Given the description of an element on the screen output the (x, y) to click on. 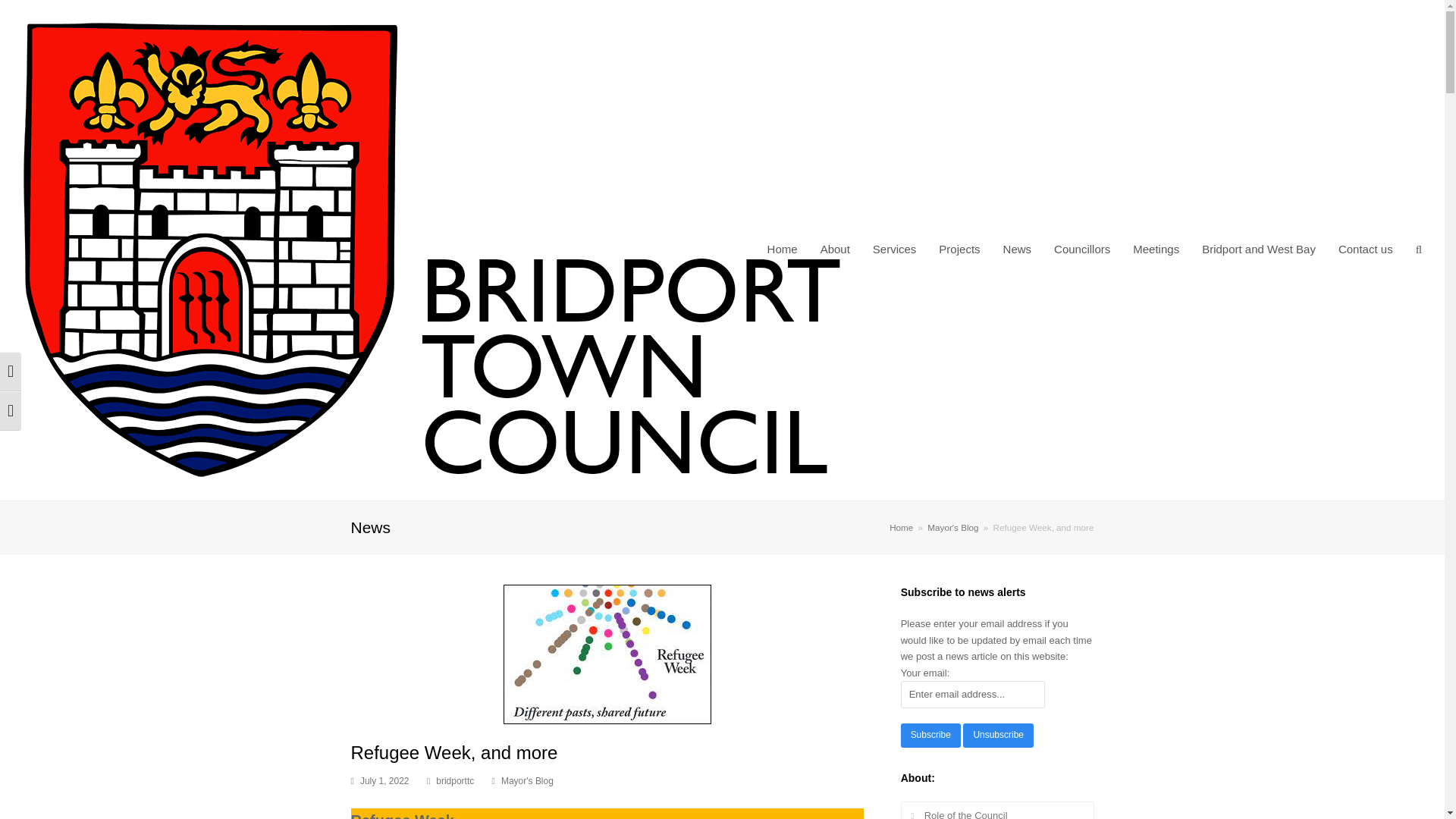
Subscribe (930, 735)
About (835, 249)
Unsubscribe (997, 735)
Home (782, 249)
Projects (959, 249)
Enter email address... (973, 693)
Services (894, 249)
